Given the description of an element on the screen output the (x, y) to click on. 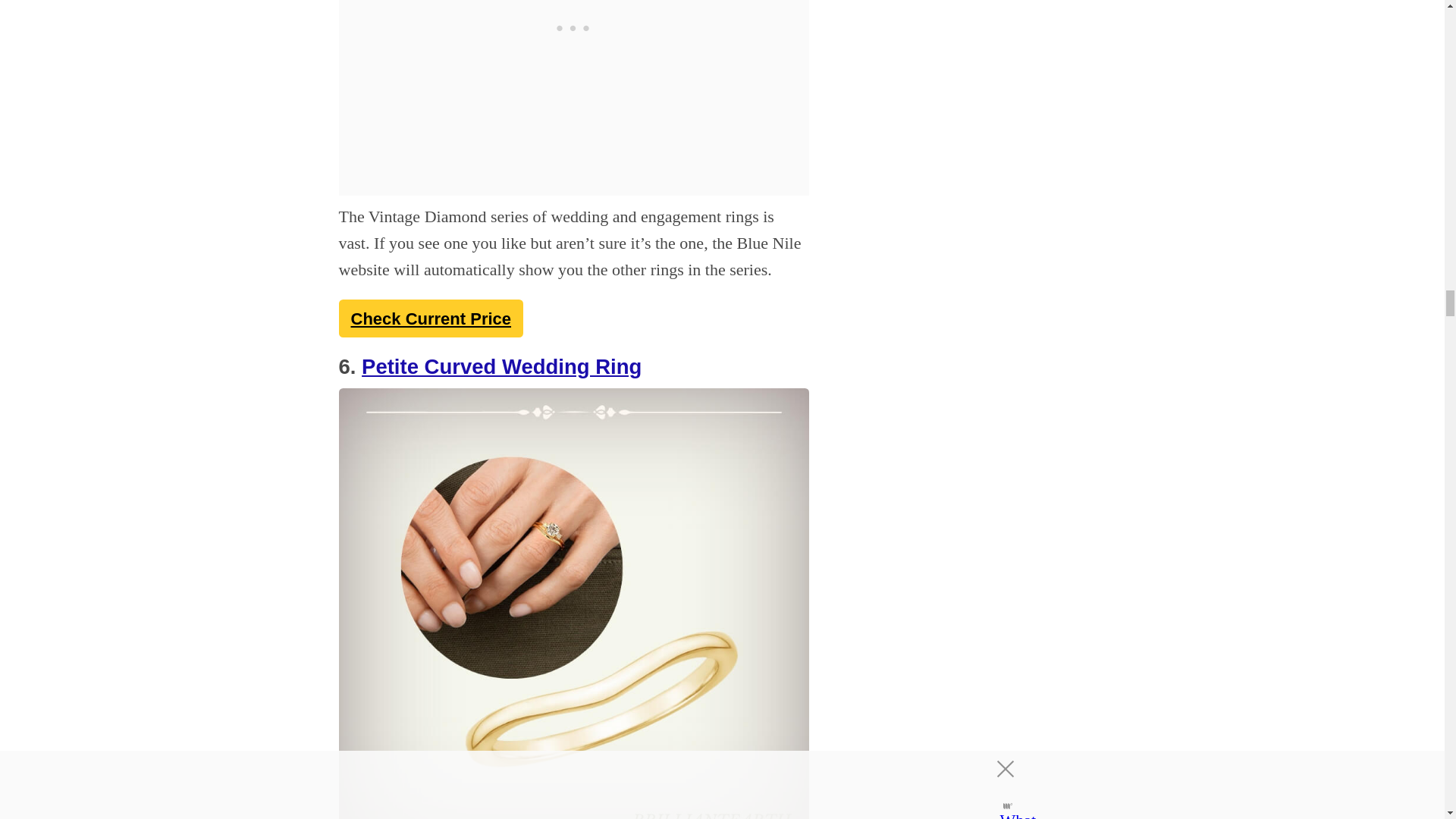
Petite Curved Wedding Ring (501, 366)
Check Current Price (429, 318)
